Given the description of an element on the screen output the (x, y) to click on. 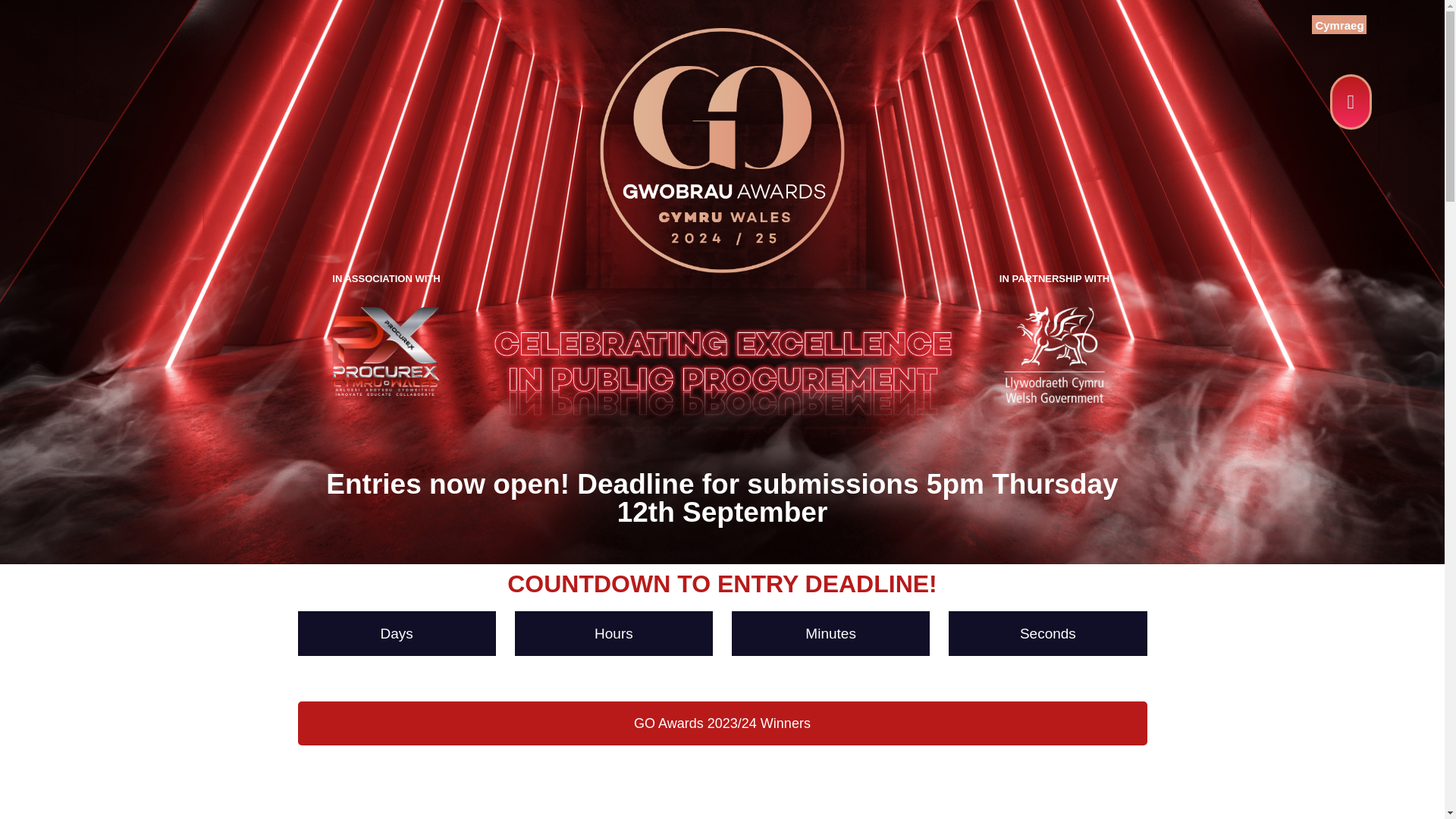
Cymraeg (1338, 24)
